Given the description of an element on the screen output the (x, y) to click on. 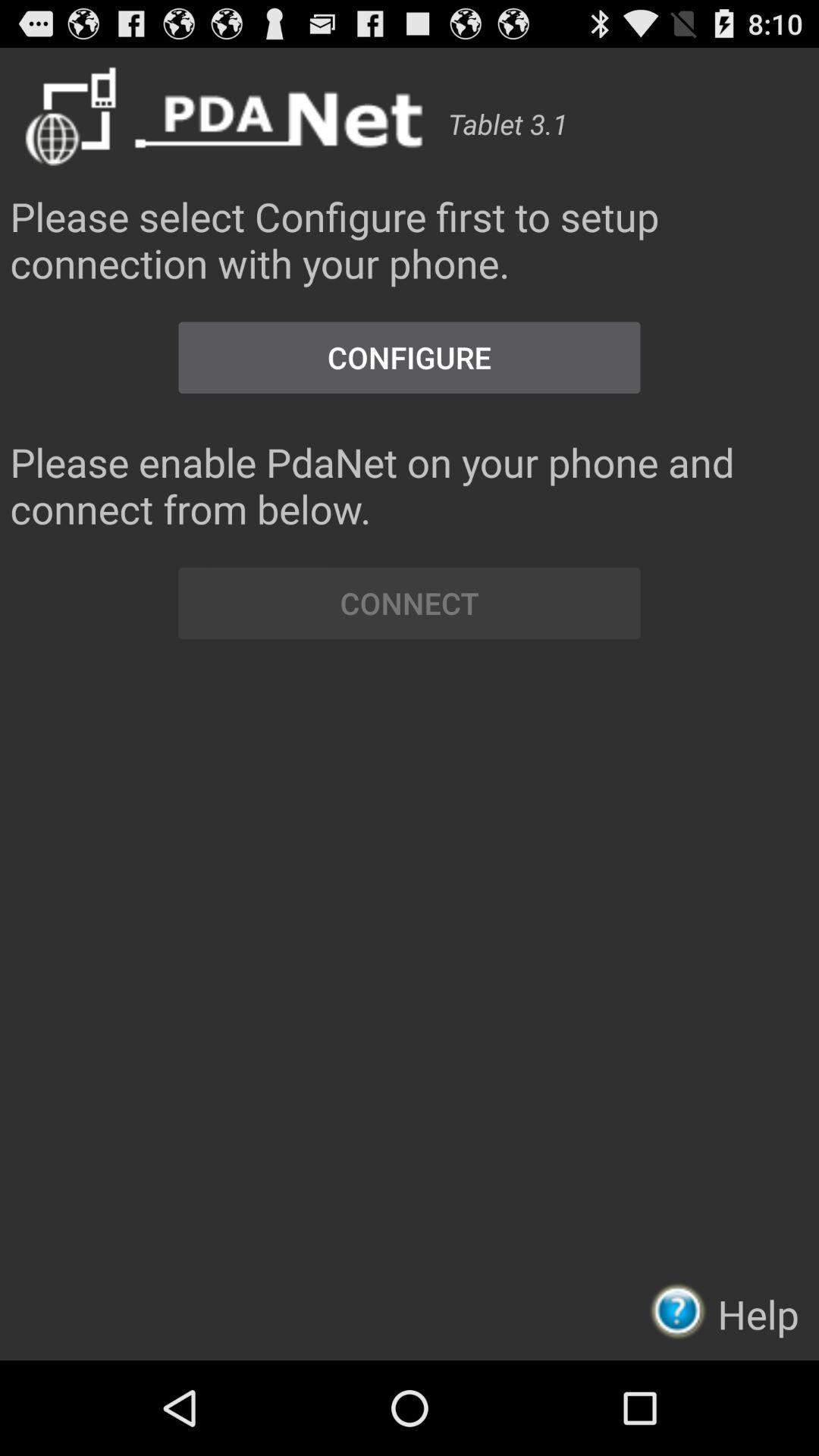
choose app to the left of help app (682, 1310)
